Given the description of an element on the screen output the (x, y) to click on. 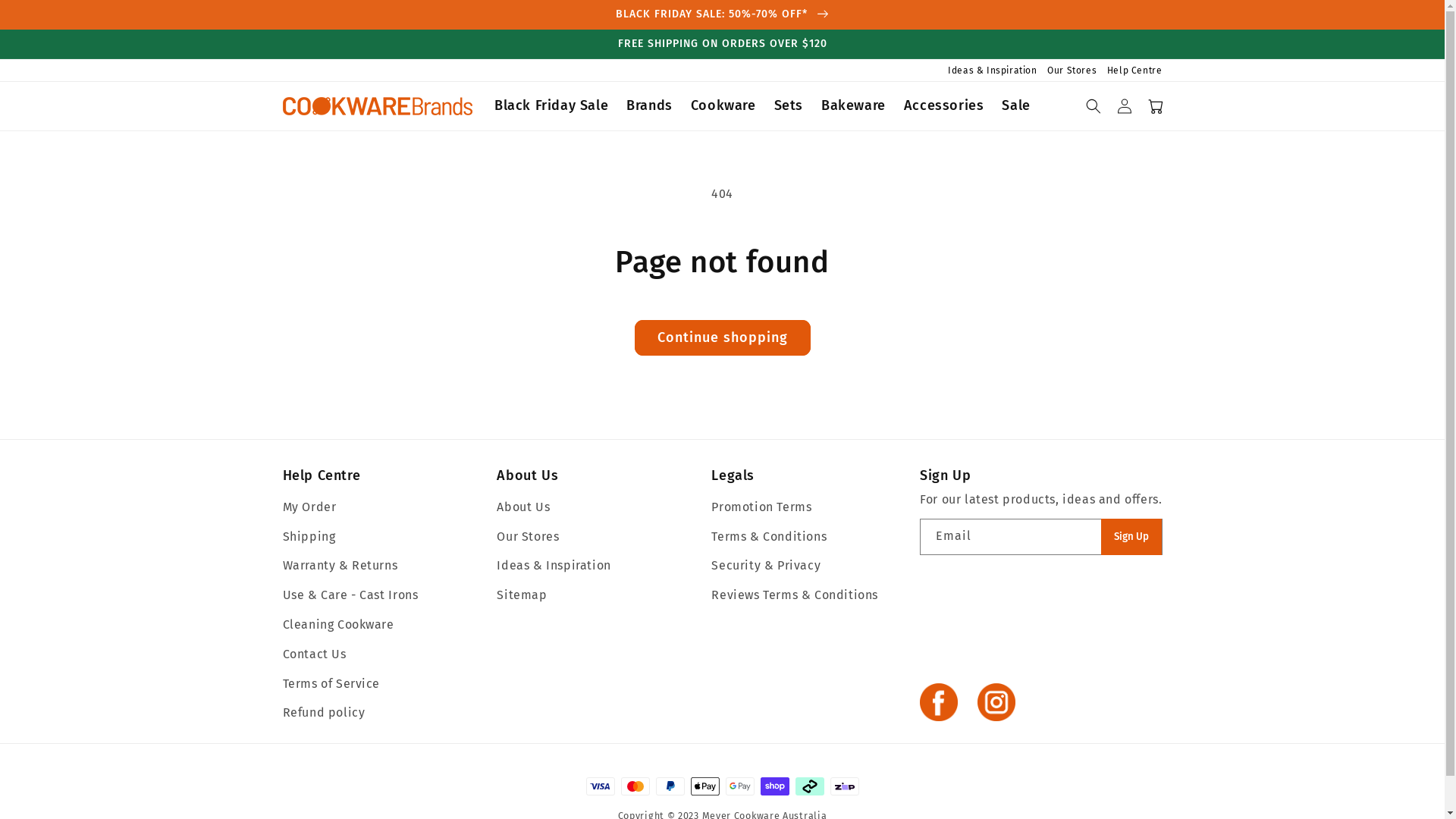
Warranty & Returns Element type: text (339, 565)
Log in Element type: text (1123, 105)
Continue shopping Element type: text (721, 337)
About Us Element type: text (600, 475)
Legals Element type: text (815, 475)
Contact Us Element type: text (313, 654)
Our Stores Element type: text (527, 537)
About Us Element type: text (522, 507)
Our Stores Element type: text (1069, 70)
Help Centre Element type: text (386, 475)
Reviews Terms & Conditions Element type: text (794, 595)
Shipping Element type: text (308, 537)
BLACK FRIDAY SALE: 50%-70% OFF* Element type: text (722, 14)
Cart Element type: text (1155, 105)
Refund policy Element type: text (323, 713)
Ideas & Inspiration Element type: text (989, 70)
Security & Privacy Element type: text (765, 565)
Sets Element type: text (788, 105)
Terms & Conditions Element type: text (768, 537)
Ideas & Inspiration Element type: text (553, 565)
Sitemap Element type: text (521, 595)
Cleaning Cookware Element type: text (337, 625)
Promotion Terms Element type: text (761, 507)
Terms of Service Element type: text (330, 684)
Sign Up Element type: text (1131, 536)
My Order Element type: text (308, 507)
Help Centre Element type: text (1130, 70)
Use & Care - Cast Irons Element type: text (349, 595)
